Given the description of an element on the screen output the (x, y) to click on. 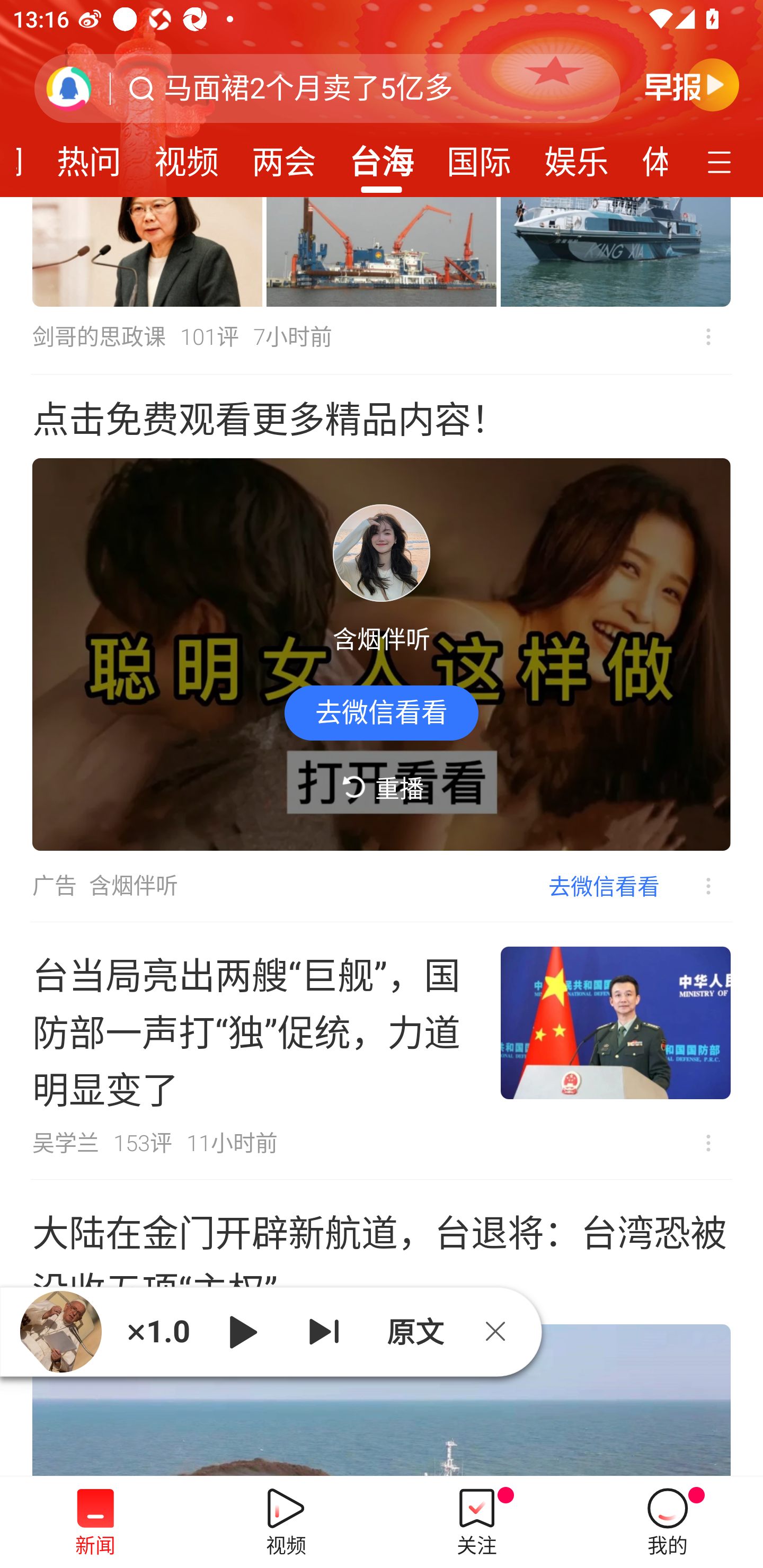
早晚报 (691, 84)
刷新 (68, 88)
马面裙2个月卖了5亿多 (308, 88)
热问 (89, 155)
视频 (186, 155)
两会 (283, 155)
台海 (381, 155)
国际 (478, 155)
娱乐 (575, 155)
 定制频道 (721, 160)
图片 图片 图片 剑哥的思政课 101评 7小时前  不感兴趣 (381, 285)
 不感兴趣 (707, 337)
点击免费观看更多精品内容！ 含烟伴听 去微信看看 重播 广告 含烟伴听 去微信看看  不感兴趣 (381, 647)
含烟伴听 去微信看看 重播 (381, 654)
去微信看看 (381, 712)
重播 (381, 787)
 不感兴趣 (694, 886)
去微信看看 (603, 885)
广告 (54, 885)
含烟伴听 (133, 885)
 不感兴趣 (707, 1143)
大陆在金门开辟新航道，台退将：台湾恐被没收五项“主权” (381, 1328)
播放器 (61, 1331)
 播放 (242, 1330)
 下一个 (323, 1330)
 关闭 (501, 1330)
原文 (413, 1331)
 1.0 (157, 1330)
